Given the description of an element on the screen output the (x, y) to click on. 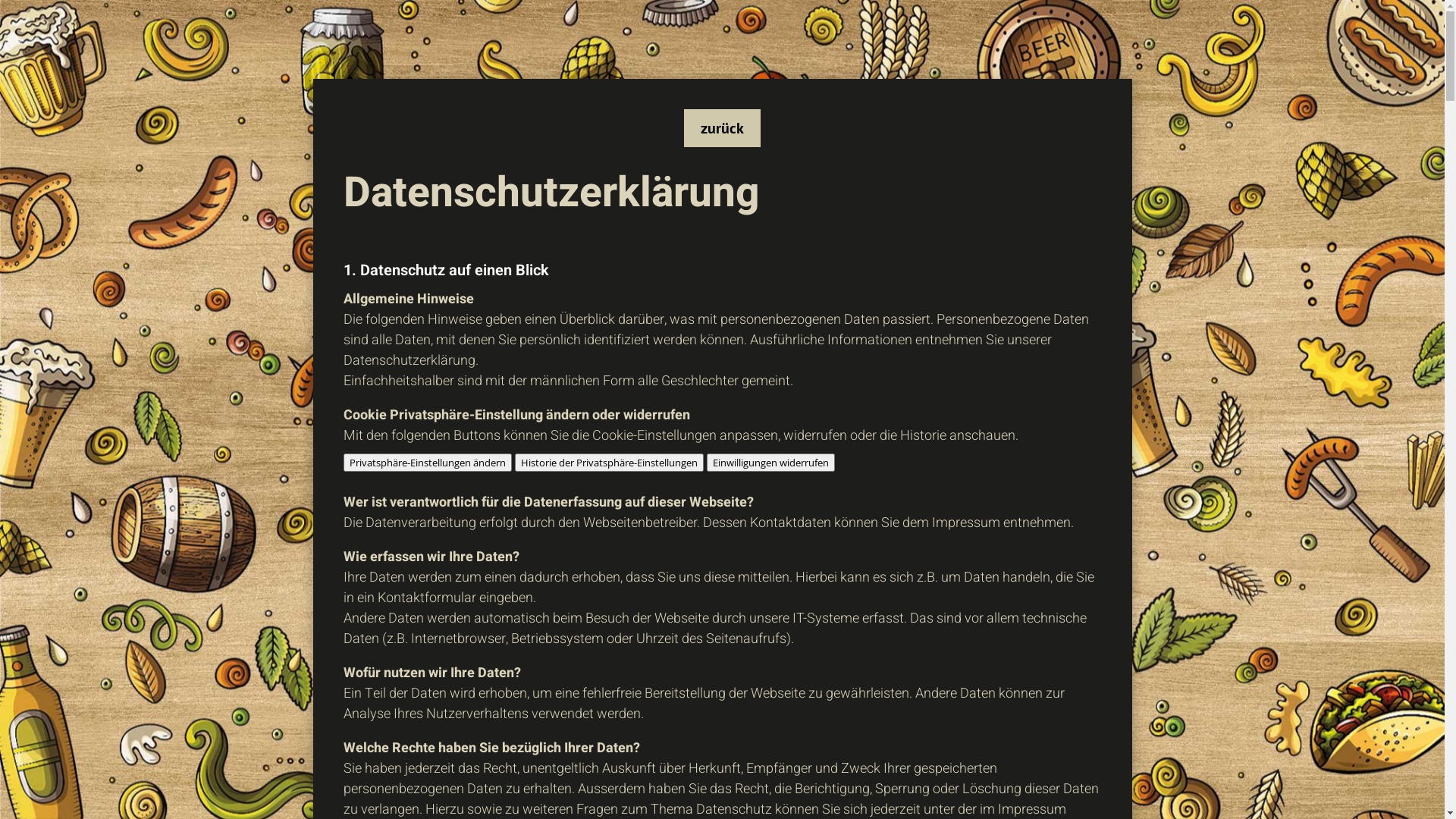
Einwilligungen widerrufen Element type: text (770, 462)
